Given the description of an element on the screen output the (x, y) to click on. 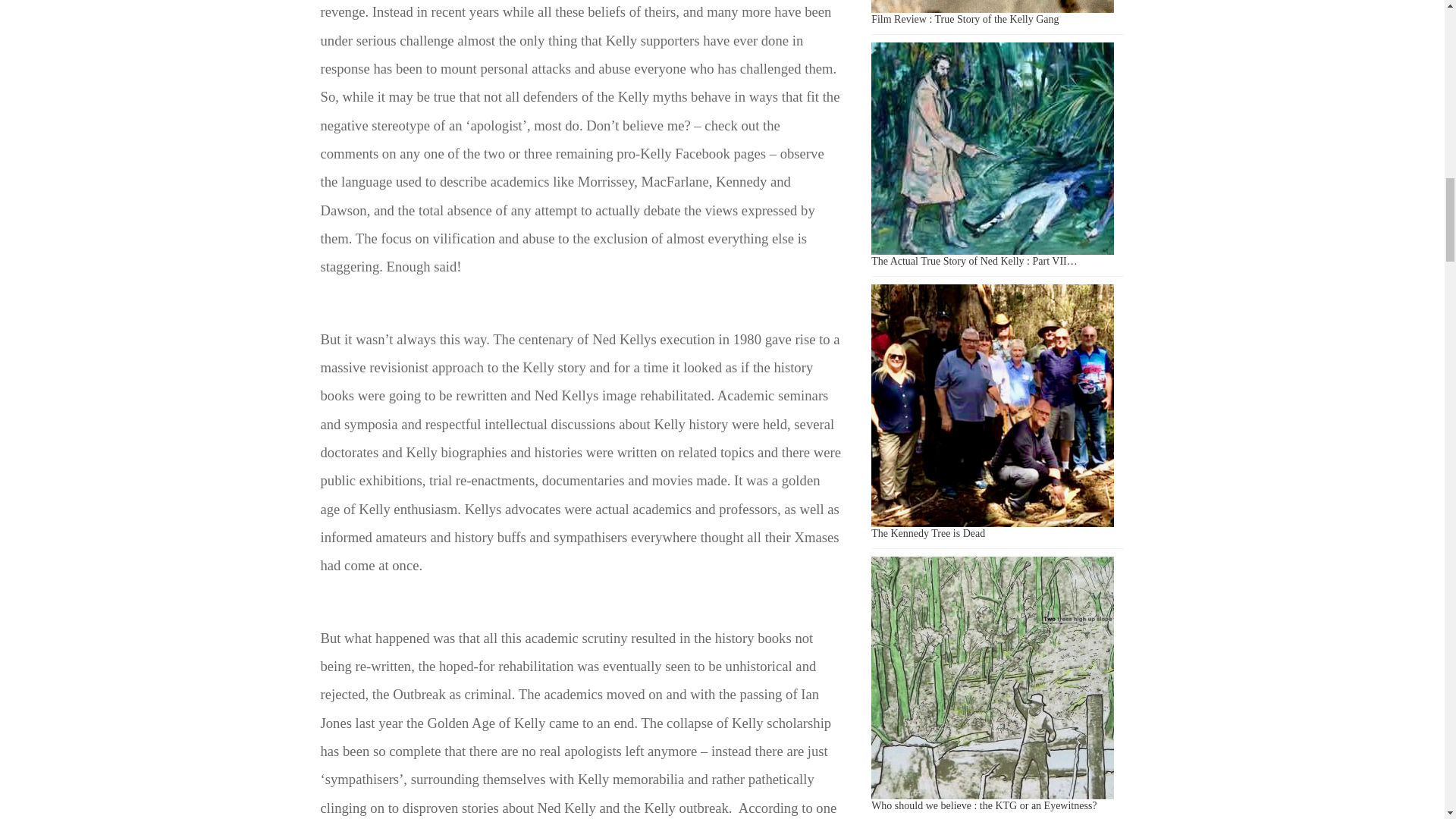
Who should we believe : the KTG or an Eyewitness? (991, 677)
Film Review : True Story of the Kelly Gang (964, 19)
The Kennedy Tree is Dead (927, 532)
The Kennedy Tree is Dead (991, 405)
Who should we believe : the KTG or an Eyewitness? (983, 805)
Film Review : True Story of the Kelly Gang (991, 6)
